Given the description of an element on the screen output the (x, y) to click on. 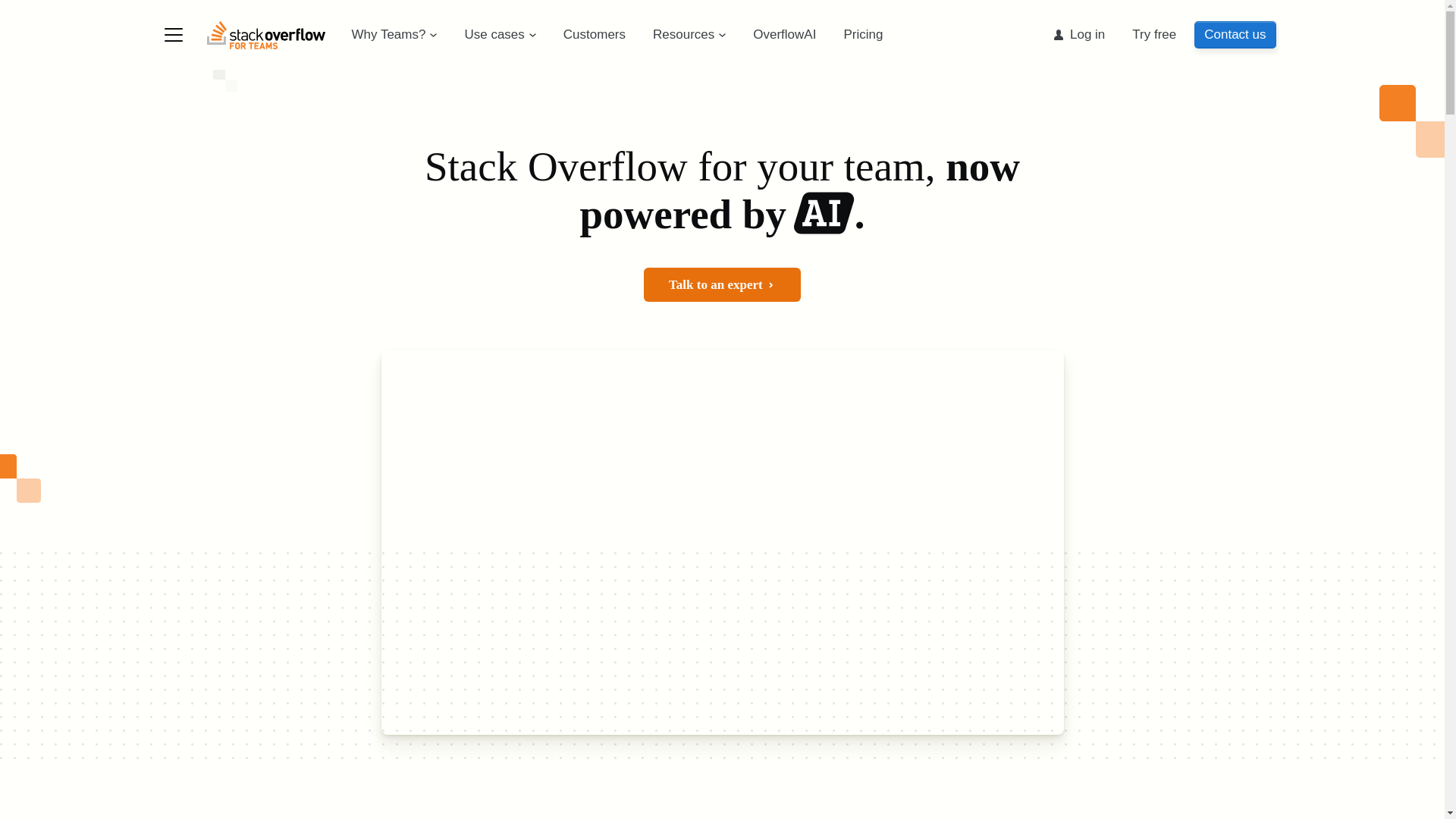
Stack Overflow for Teams (271, 34)
OverflowAI (784, 34)
Contact us (1234, 34)
Use cases (499, 34)
Log in (1077, 34)
Talk to an expert (721, 284)
Resources (689, 34)
Pricing (863, 34)
Customers (594, 34)
Why Teams? (394, 34)
Explore our products (172, 34)
Try free (1153, 34)
Products (172, 34)
OverflowAI (823, 213)
